Given the description of an element on the screen output the (x, y) to click on. 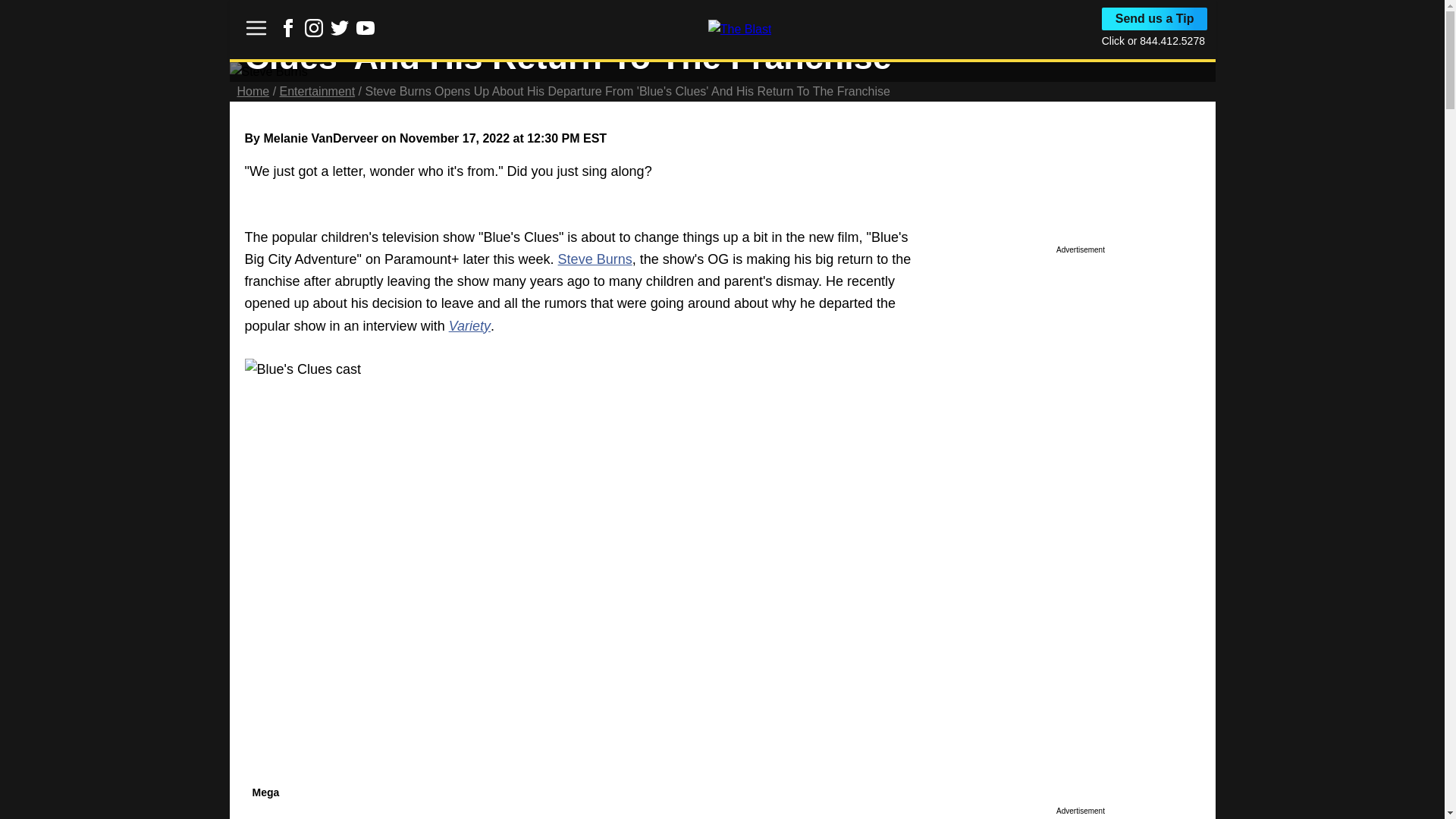
Variety (469, 325)
Link to Facebook (288, 27)
Melanie VanDerveer (320, 137)
Link to Instagram (313, 31)
Entertainment (317, 91)
Link to Twitter (339, 27)
Link to Facebook (288, 31)
Link to Youtube (365, 27)
Send us a Tip (1155, 18)
Home (252, 91)
